Given the description of an element on the screen output the (x, y) to click on. 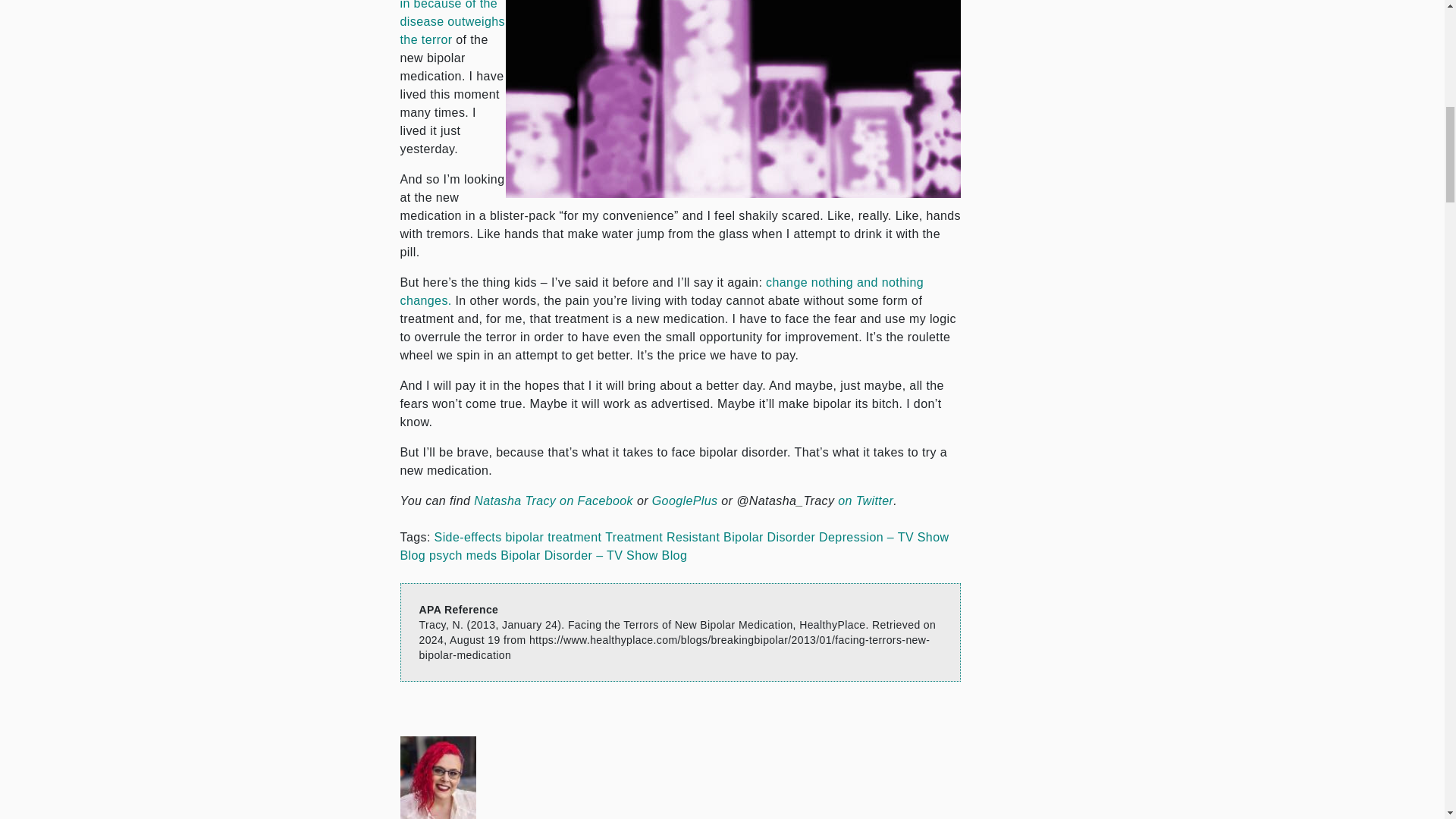
Twitter for Natasha Tracy (865, 500)
Change Nothing and Nothing Changes (662, 291)
Natasha Tracy on GooglePlus (684, 500)
Severity of Bipolar Affects Views on Treatment (452, 22)
Facebook for Natasha Tracy (553, 500)
